Given the description of an element on the screen output the (x, y) to click on. 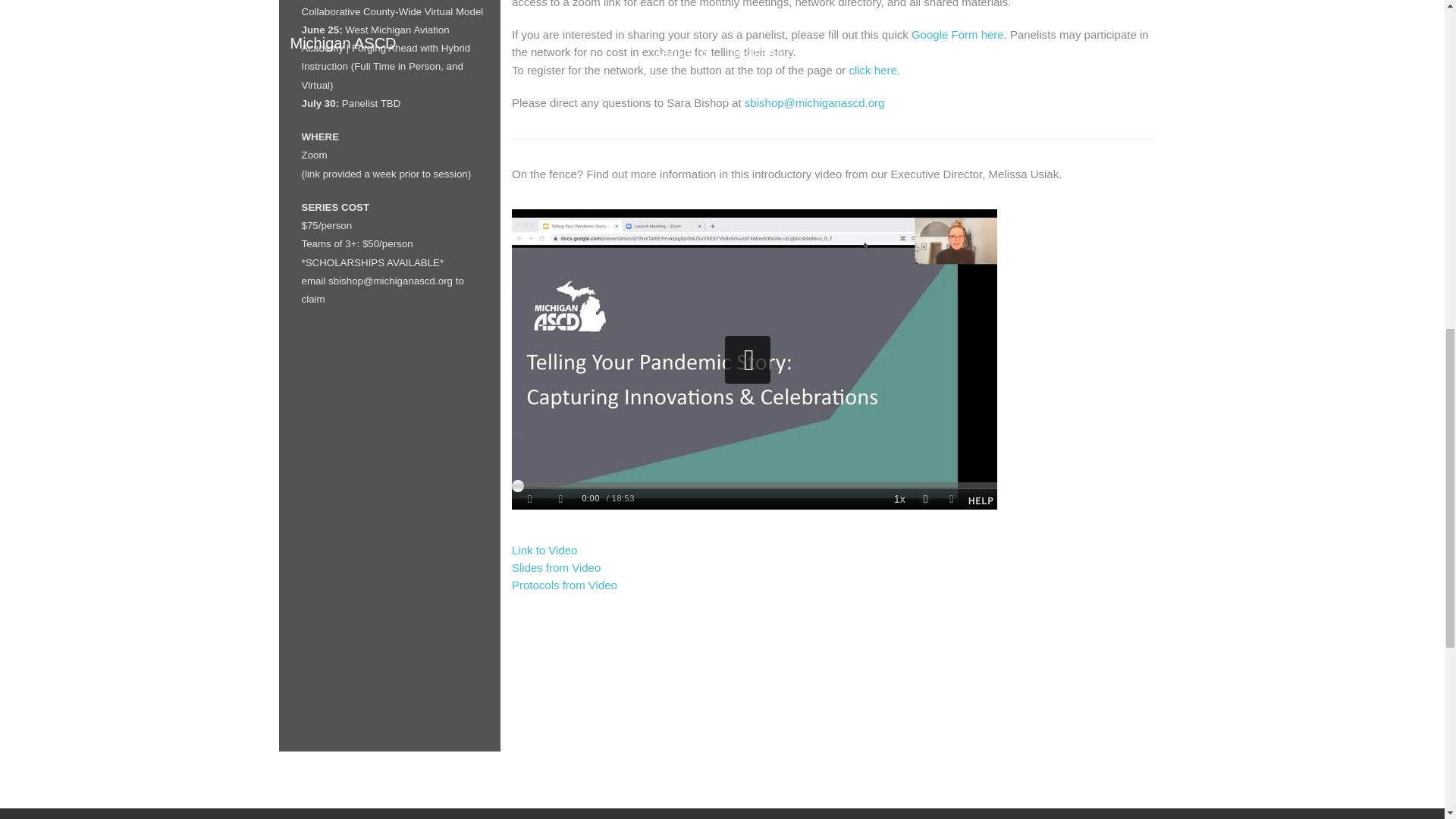
Google Form here (957, 33)
Slides from Video (555, 567)
Link to Video (544, 549)
click here (870, 69)
Protocols from Video (564, 584)
